Given the description of an element on the screen output the (x, y) to click on. 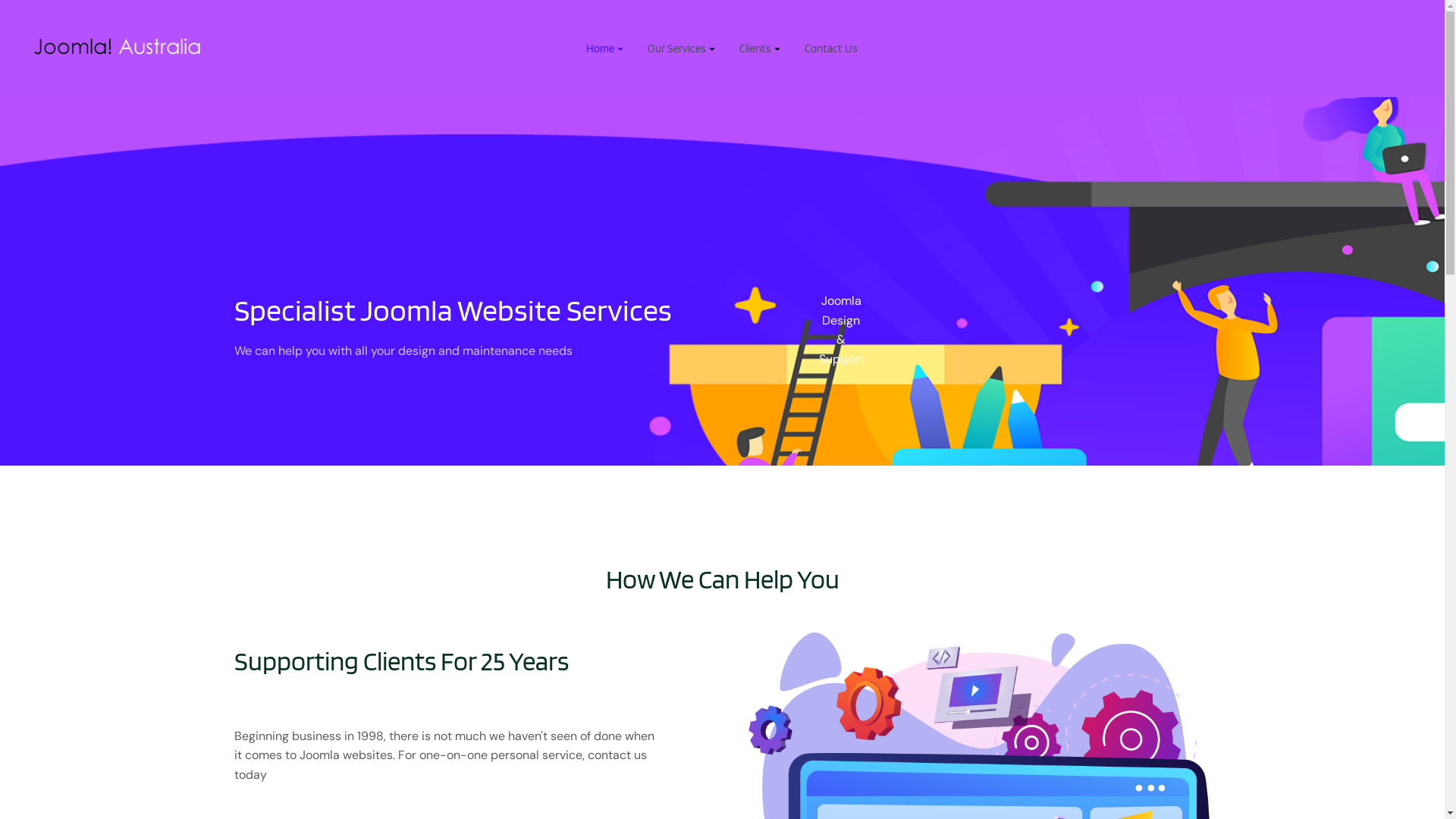
Home Element type: text (604, 48)
Halcyon Daze Website Design and Services Element type: hover (118, 47)
Contact Us Element type: text (830, 48)
Clients Element type: text (759, 48)
